Given the description of an element on the screen output the (x, y) to click on. 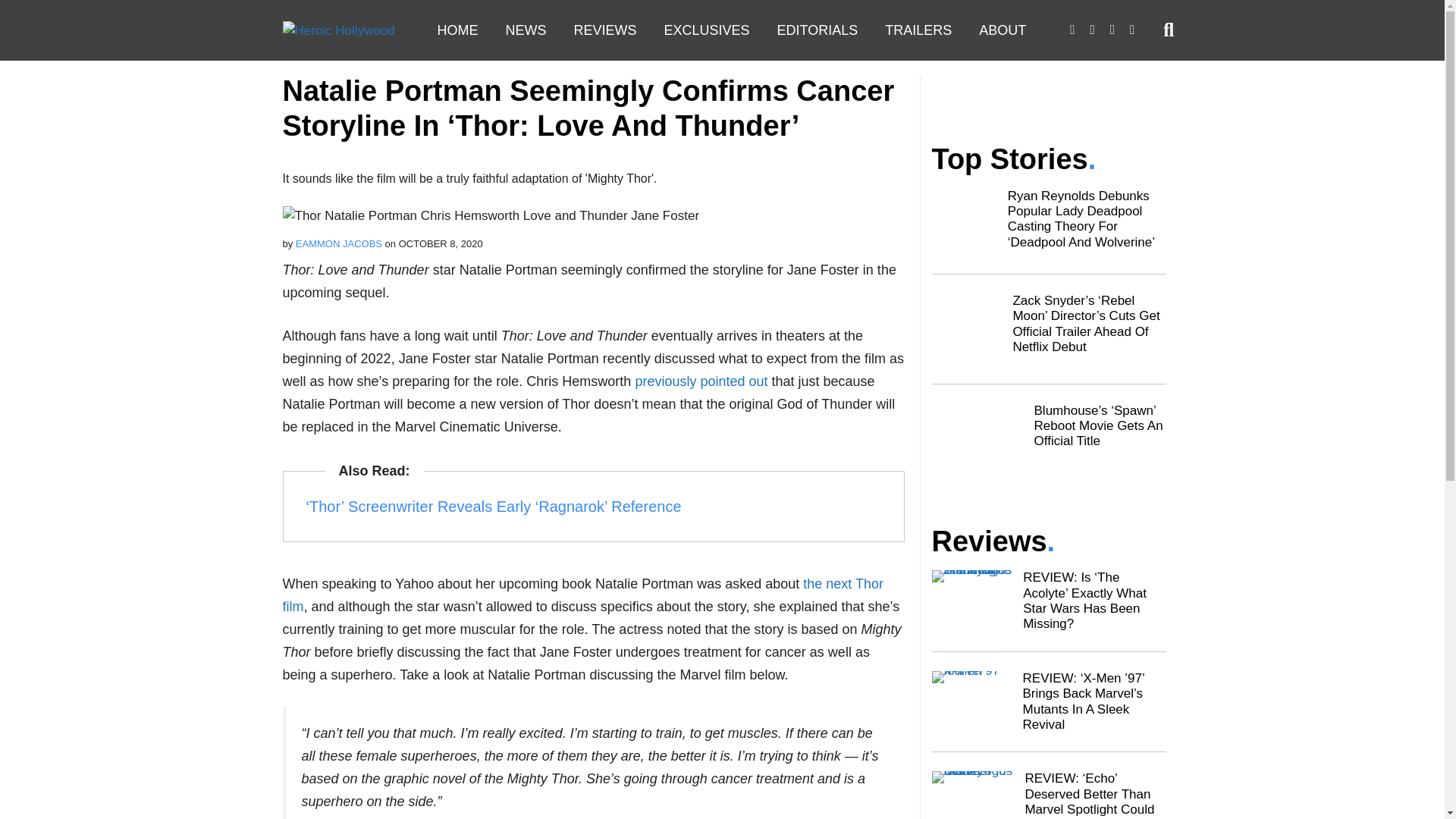
REVIEWS (604, 30)
EDITORIALS (817, 30)
EXCLUSIVES (706, 30)
ABOUT (1002, 30)
TRAILERS (917, 30)
NEWS (525, 30)
HOME (457, 30)
2020-10-08 (440, 243)
